Given the description of an element on the screen output the (x, y) to click on. 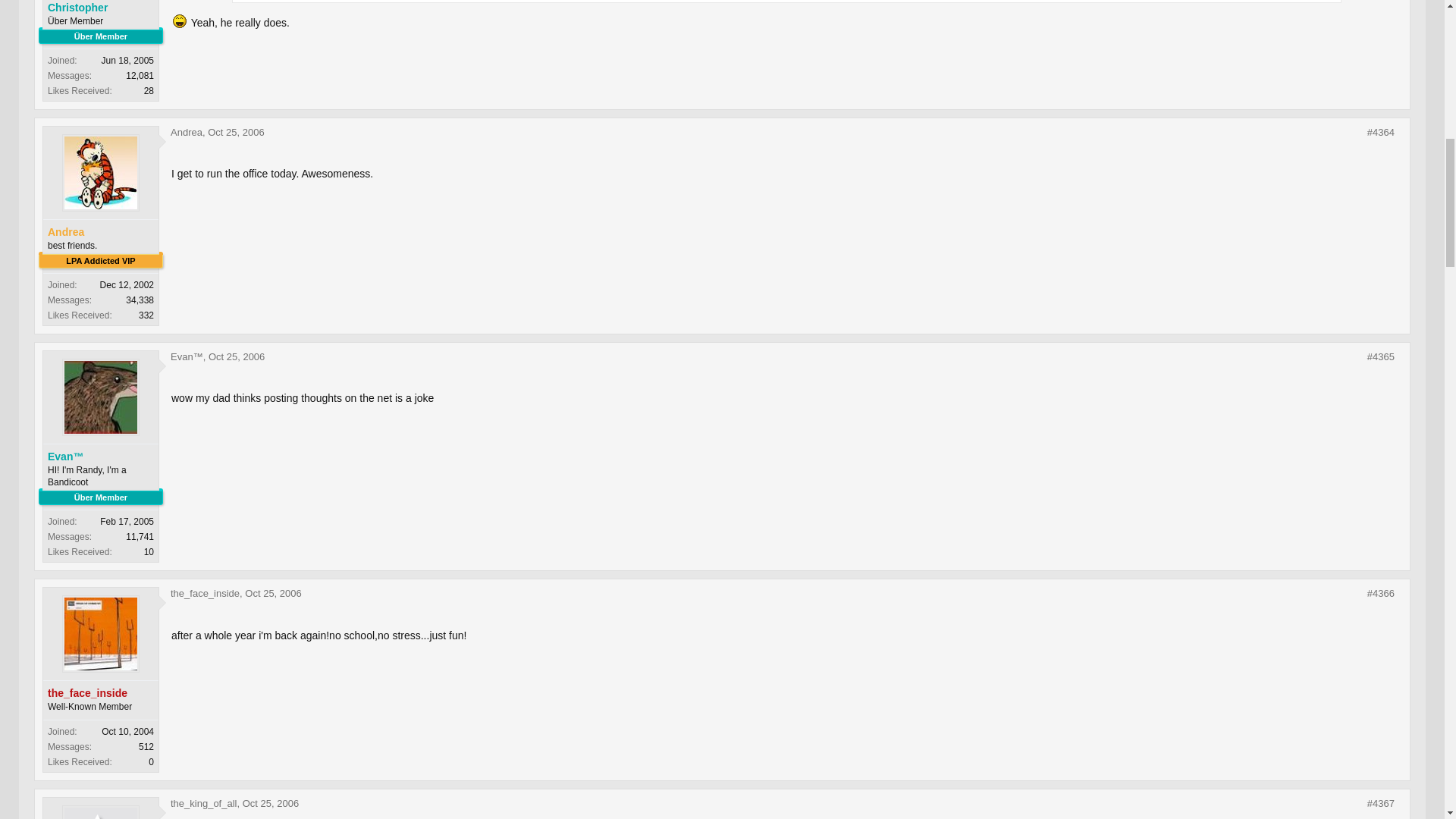
Permalink (235, 132)
12,081 (139, 75)
Permalink (1380, 356)
Permalink (1380, 132)
Christopher (101, 7)
Permalink (236, 356)
Lol    :lol: (179, 20)
